Given the description of an element on the screen output the (x, y) to click on. 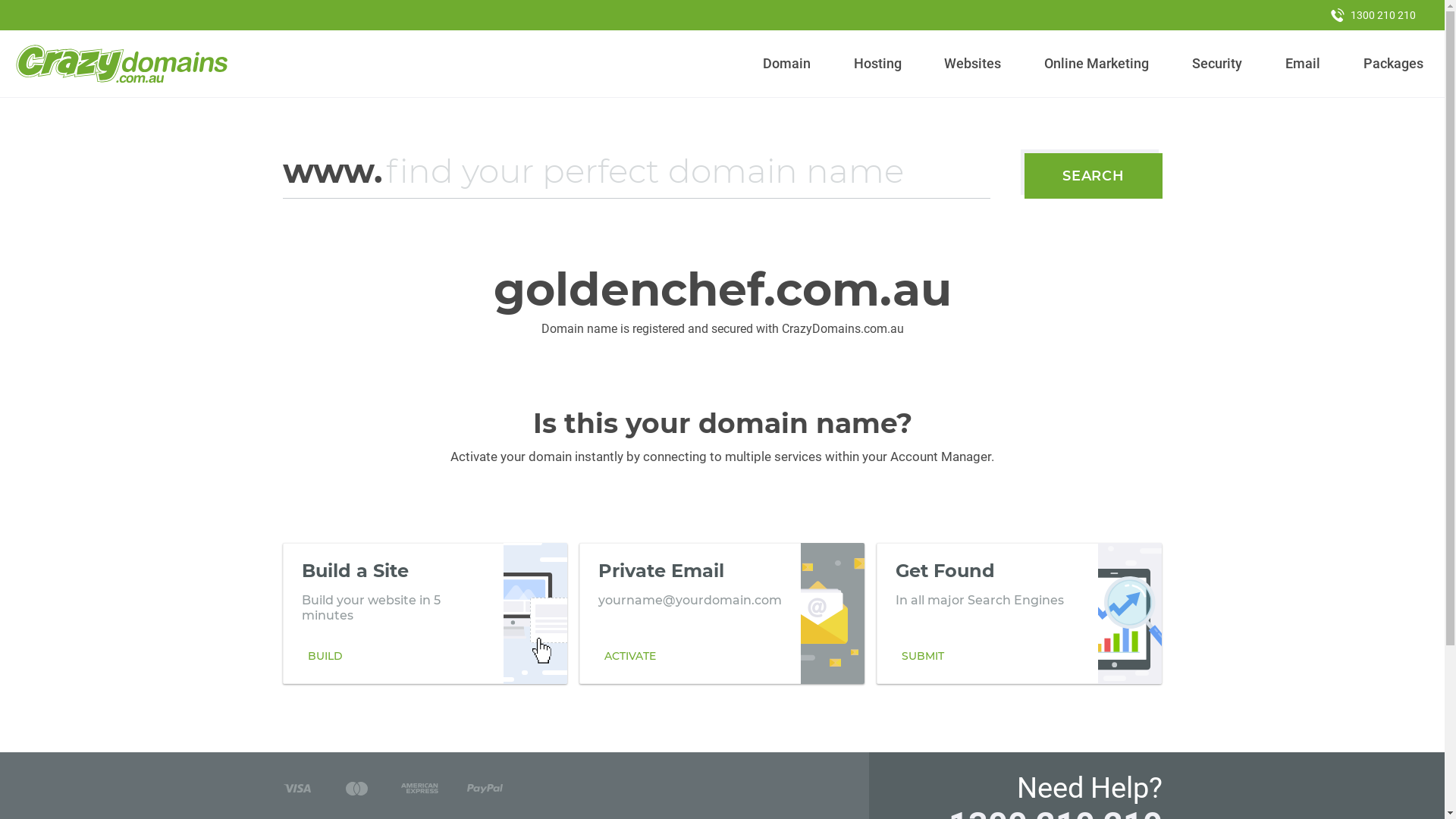
SEARCH Element type: text (1092, 175)
Private Email
yourname@yourdomain.com
ACTIVATE Element type: text (721, 613)
1300 210 210 Element type: text (1373, 15)
Domain Element type: text (786, 63)
Packages Element type: text (1392, 63)
Online Marketing Element type: text (1096, 63)
Get Found
In all major Search Engines
SUBMIT Element type: text (1018, 613)
Email Element type: text (1302, 63)
Hosting Element type: text (877, 63)
Websites Element type: text (972, 63)
Security Element type: text (1217, 63)
Build a Site
Build your website in 5 minutes
BUILD Element type: text (424, 613)
